Given the description of an element on the screen output the (x, y) to click on. 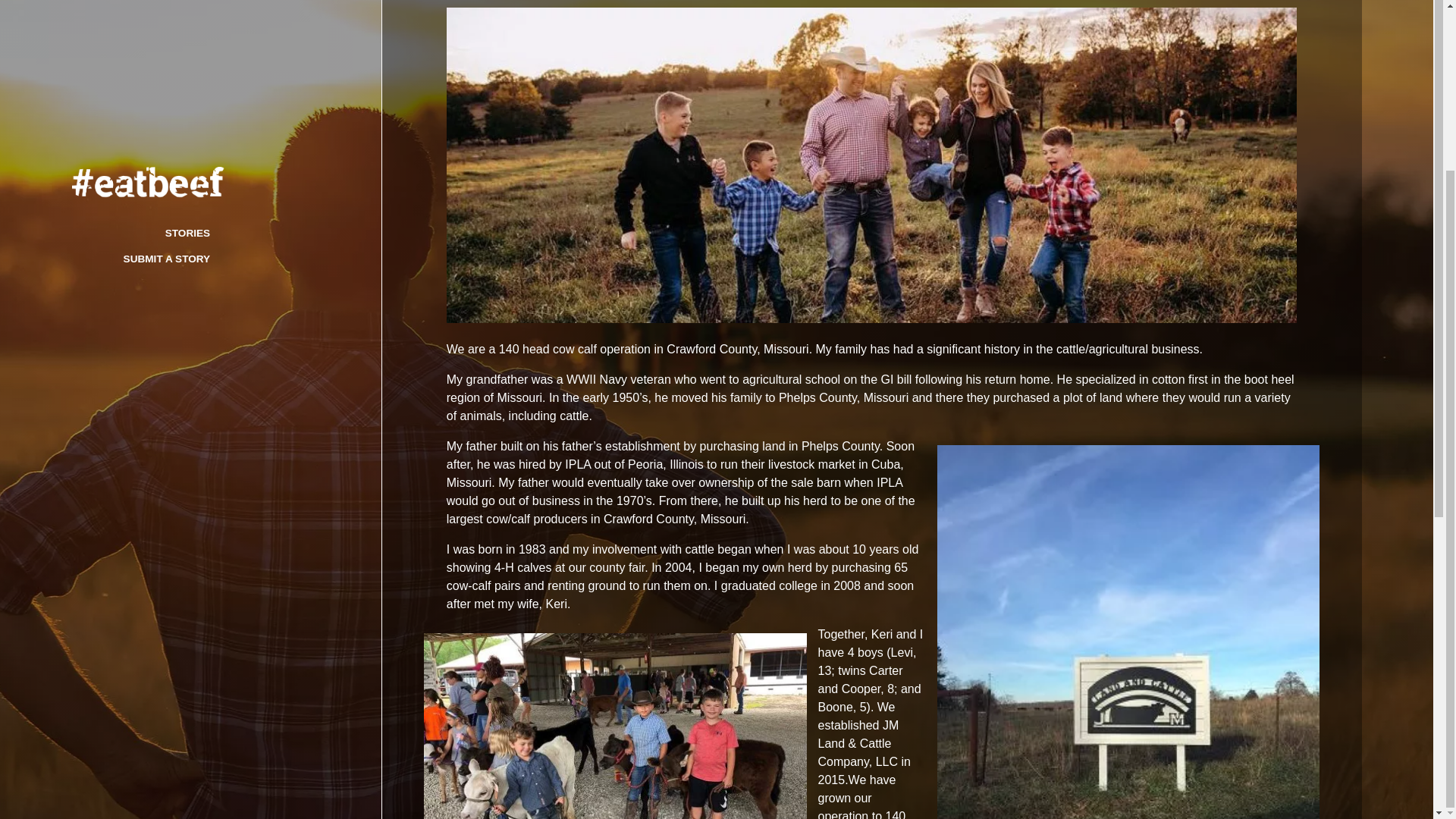
STORIES (187, 28)
SUBMIT A STORY (167, 53)
